Given the description of an element on the screen output the (x, y) to click on. 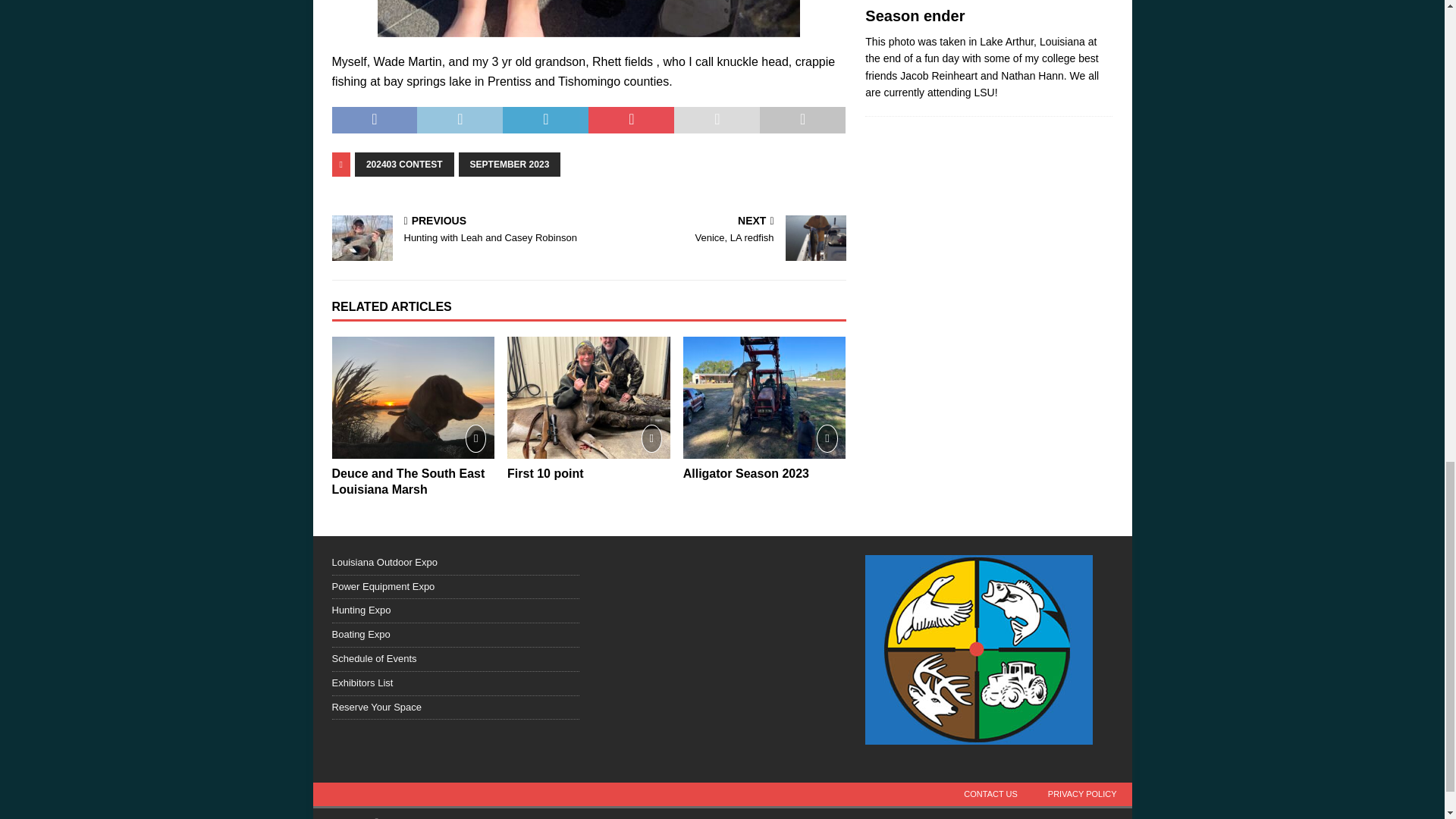
First 10 point (587, 397)
Deuce and The South East Louisiana Marsh (413, 397)
Deuce and The South East Louisiana Marsh (407, 481)
First 10 point (544, 472)
Alligator Season 2023 (763, 397)
Alligator Season 2023 (745, 472)
